Given the description of an element on the screen output the (x, y) to click on. 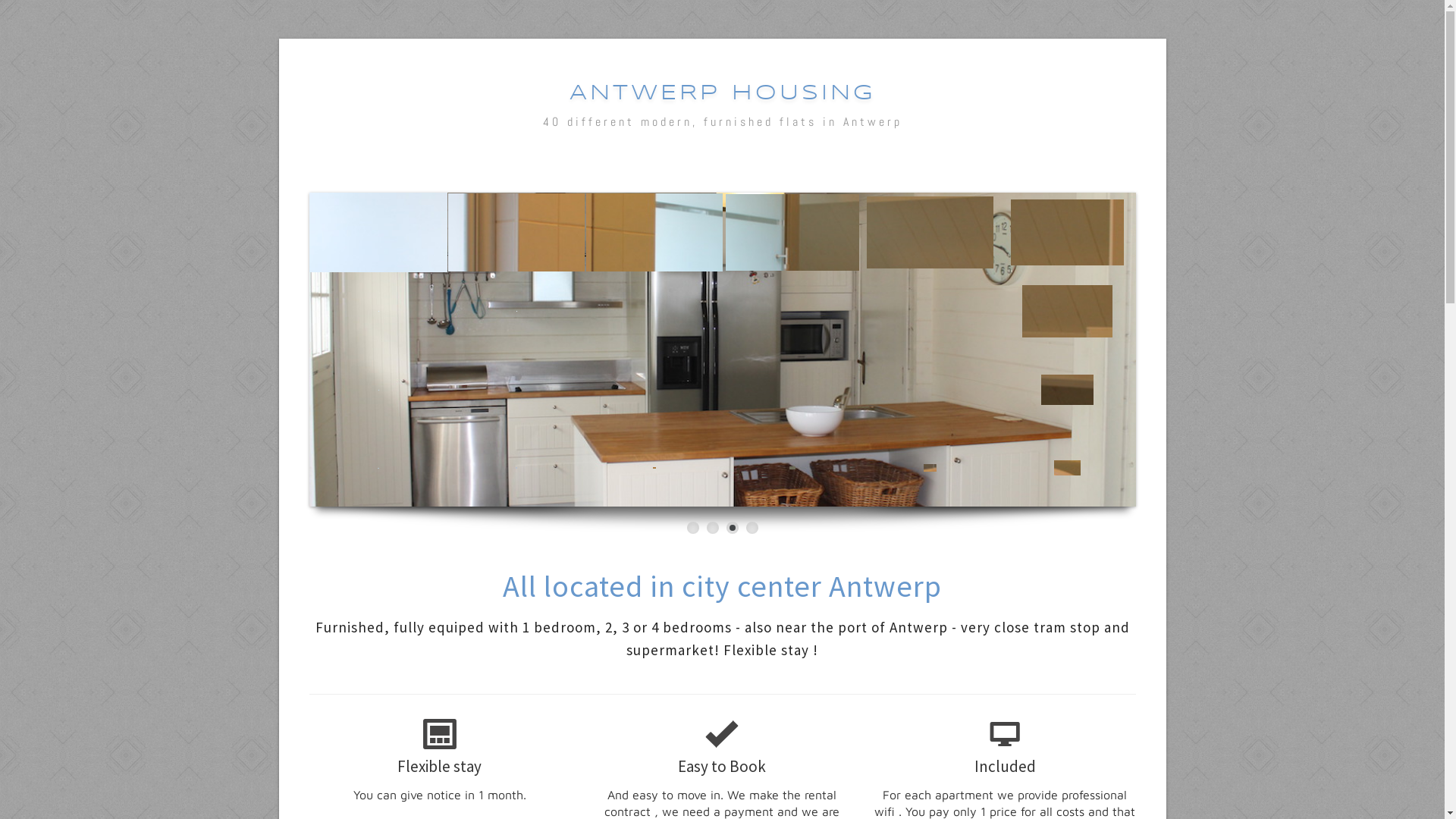
40 different modern, furnished flats in Antwerp Element type: text (722, 121)
ANTWERP HOUSING Element type: text (722, 93)
